Given the description of an element on the screen output the (x, y) to click on. 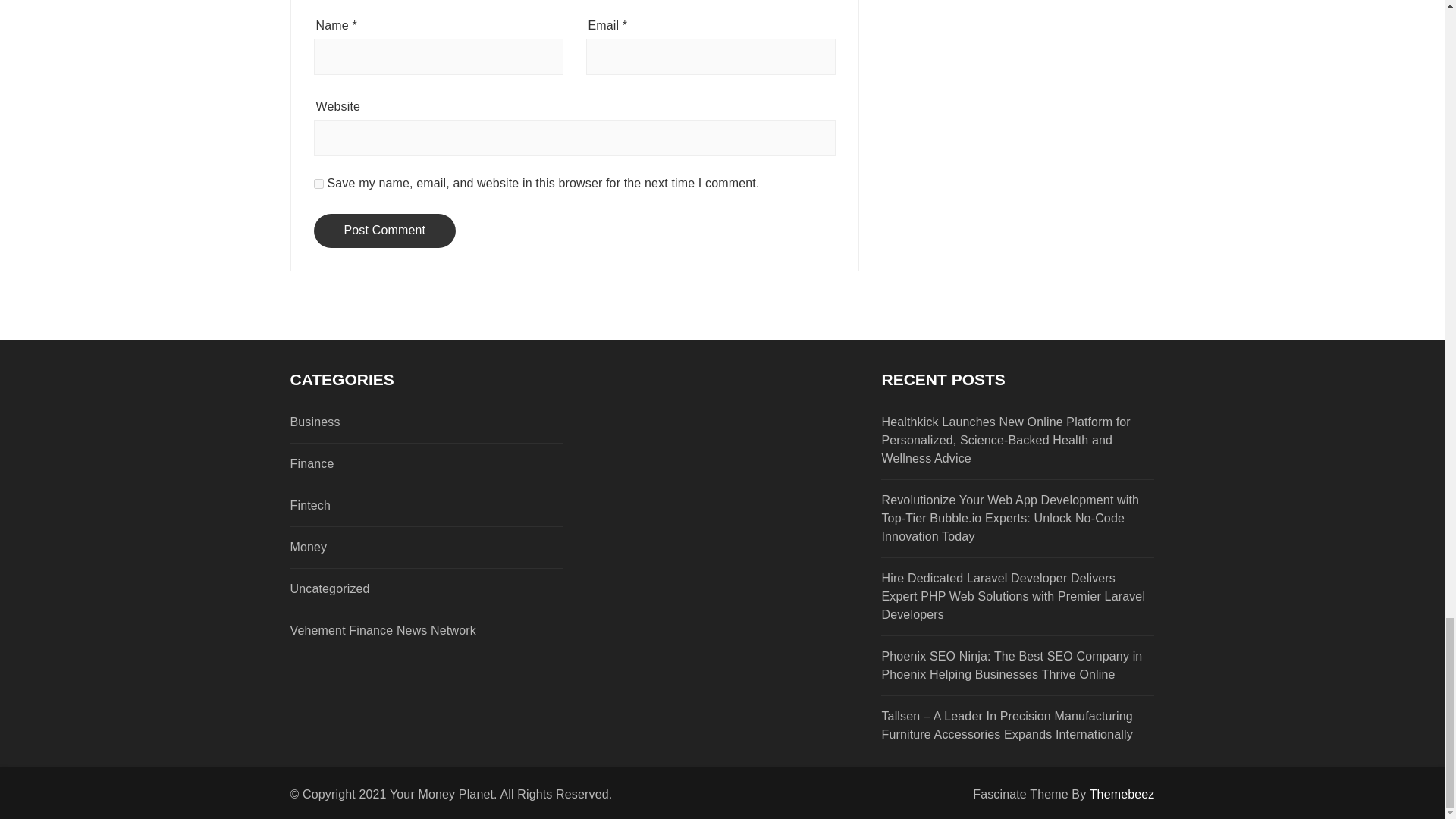
Money (398, 547)
yes (318, 184)
Post Comment (385, 230)
Fintech (398, 505)
Finance (398, 464)
Uncategorized (398, 588)
Business (398, 422)
Post Comment (385, 230)
Vehement Finance News Network (398, 630)
